Given the description of an element on the screen output the (x, y) to click on. 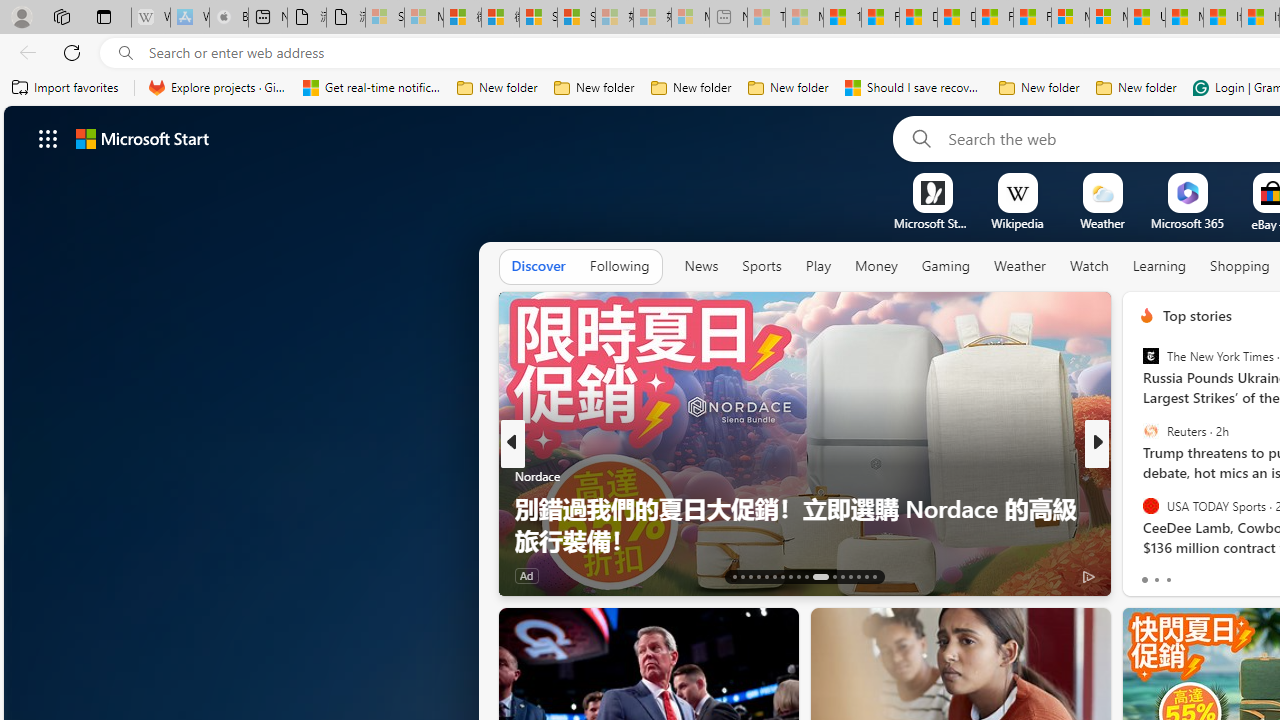
AutomationID: tab-21 (797, 576)
Lifestyle Trends (1138, 507)
AutomationID: tab-30 (850, 576)
Hey She Thrives (1138, 507)
House Beautiful (1138, 475)
Import favorites (65, 88)
Sports (761, 267)
AutomationID: tab-32 (865, 576)
Learning (1159, 267)
Play (817, 265)
